Given the description of an element on the screen output the (x, y) to click on. 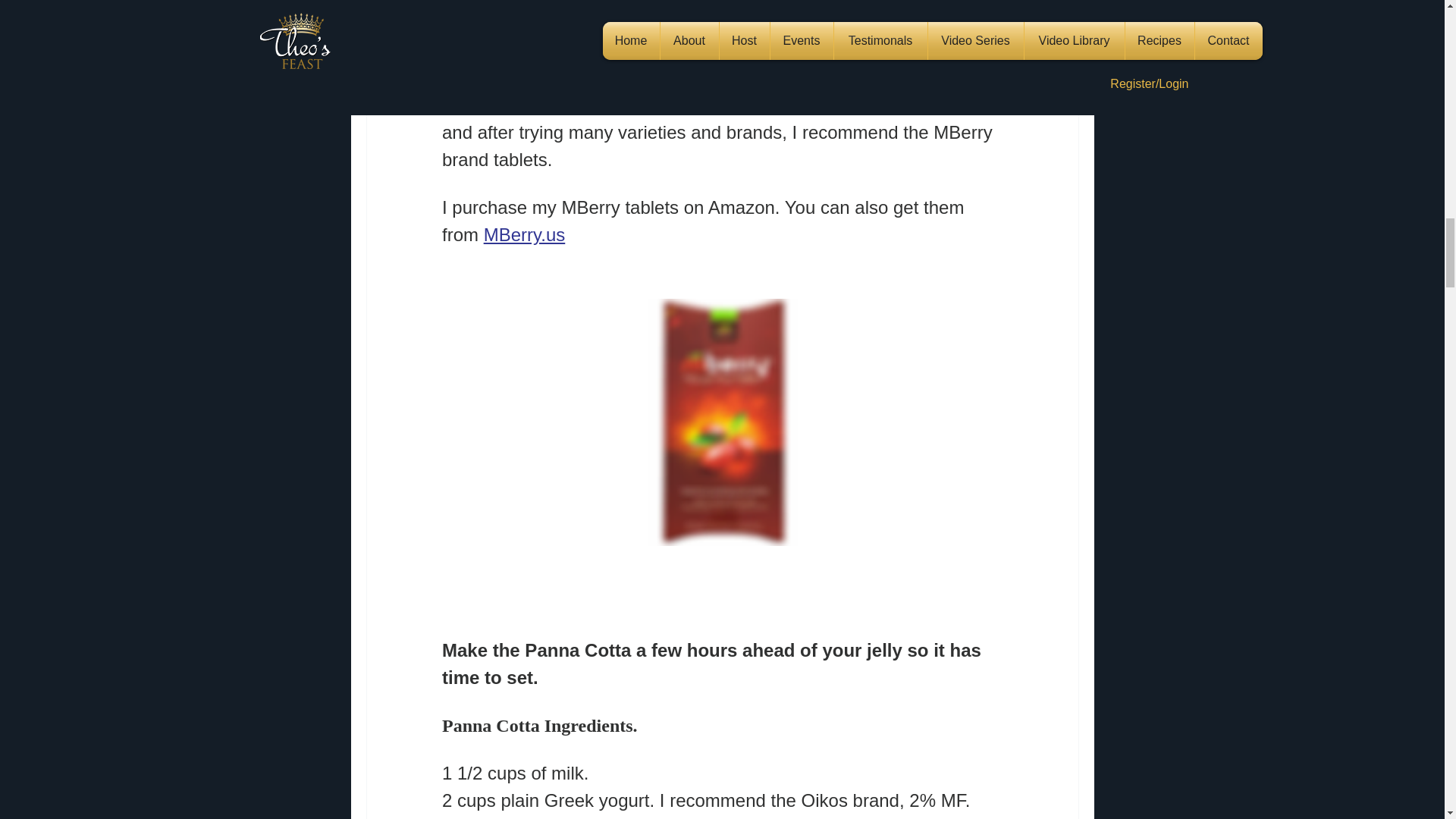
MBerry.us (523, 236)
